Given the description of an element on the screen output the (x, y) to click on. 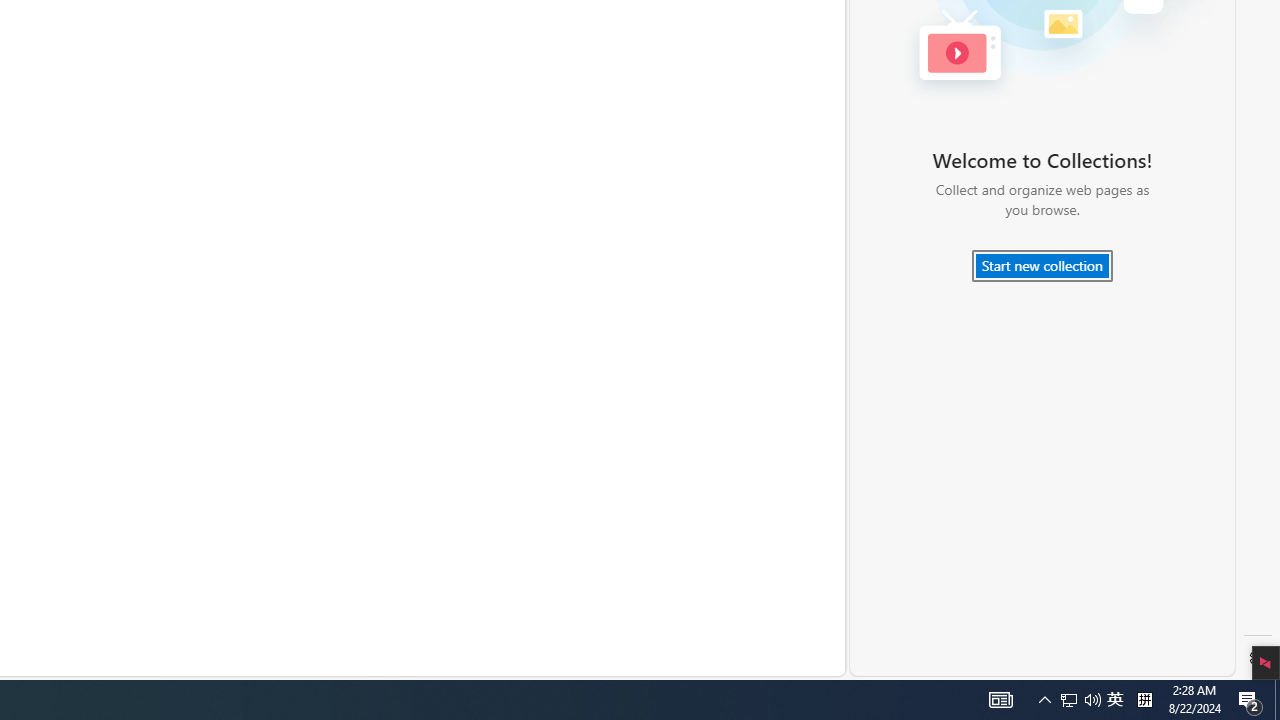
Start new collection (1042, 265)
